Given the description of an element on the screen output the (x, y) to click on. 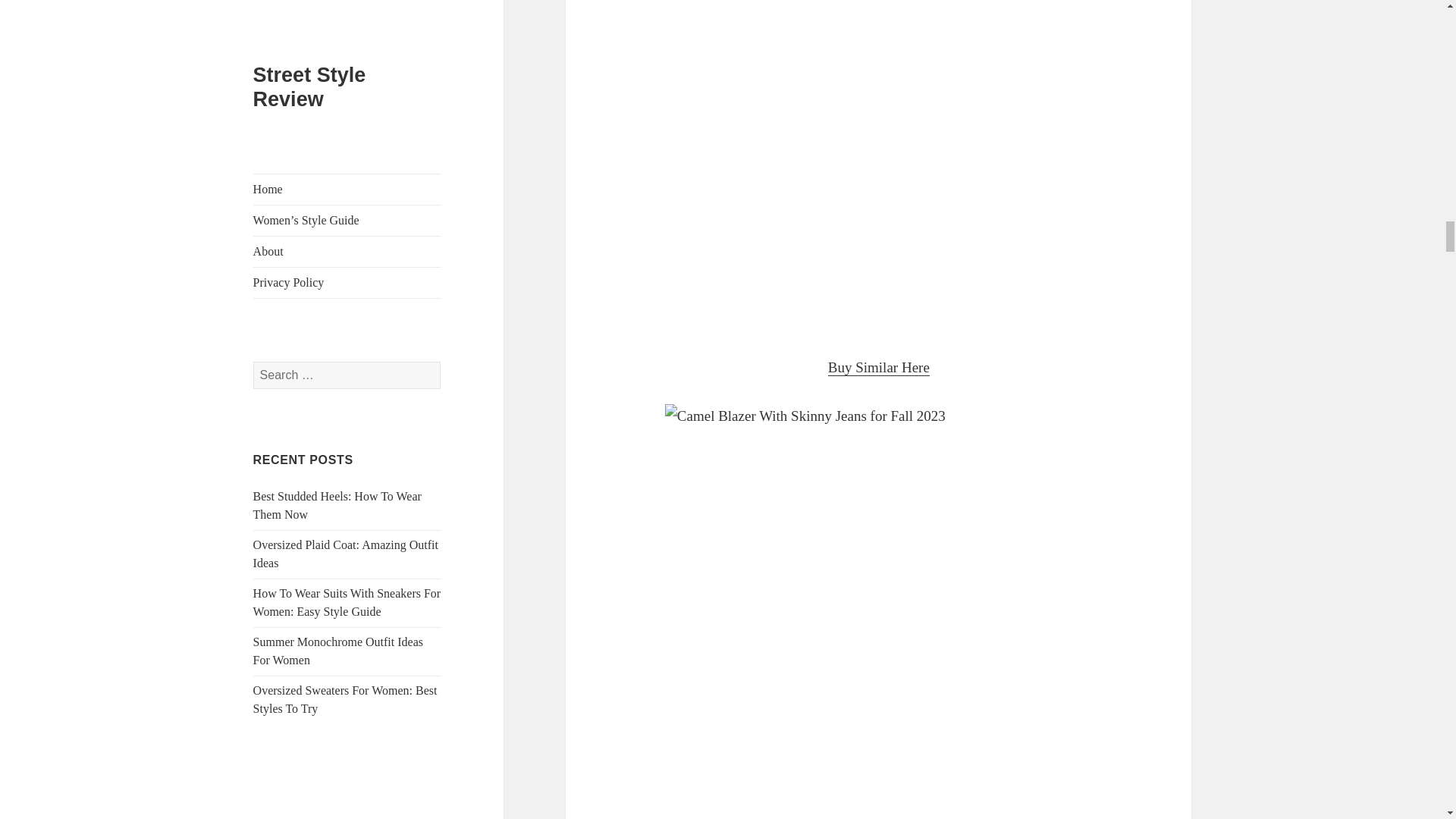
Buy Similar Here (879, 367)
